Given the description of an element on the screen output the (x, y) to click on. 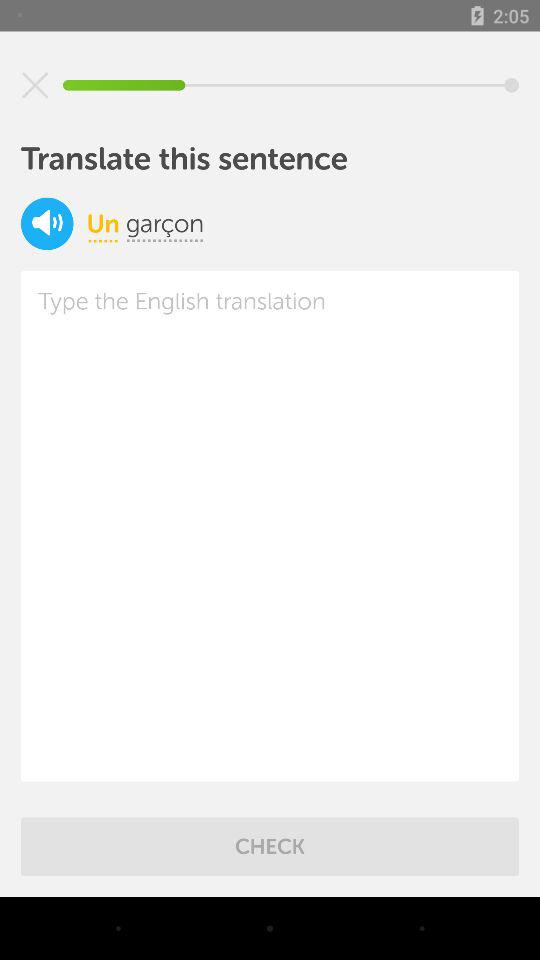
play sound (47, 223)
